Given the description of an element on the screen output the (x, y) to click on. 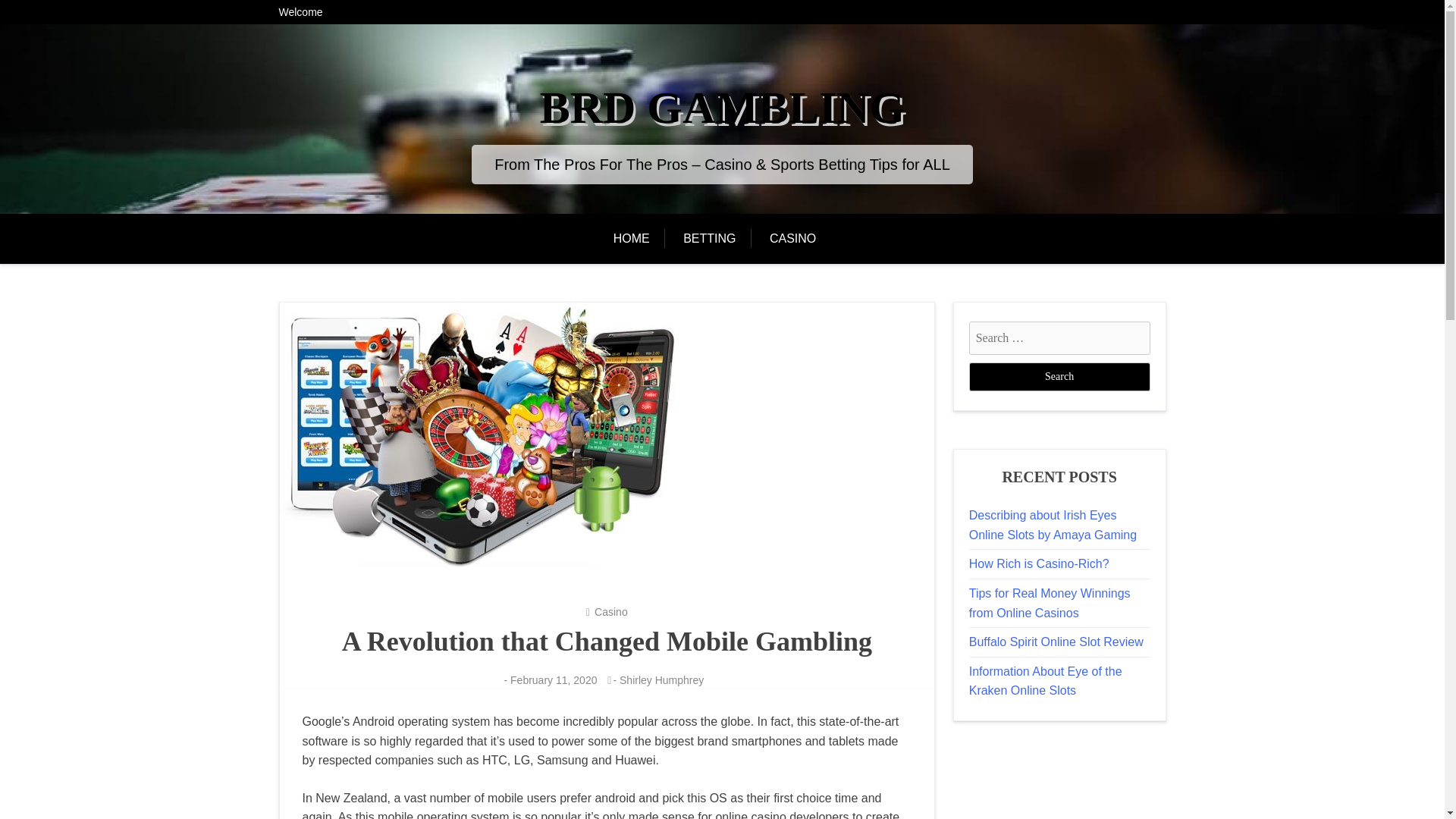
Describing about Irish Eyes Online Slots by Amaya Gaming (1053, 524)
Casino (610, 612)
Search (1059, 376)
BRD GAMBLING (722, 107)
Tips for Real Money Winnings from Online Casinos (1050, 603)
HOME (638, 238)
Information About Eye of the Kraken Online Slots (1045, 681)
Search (1059, 376)
Buffalo Spirit Online Slot Review (1055, 641)
How Rich is Casino-Rich? (1039, 563)
